Given the description of an element on the screen output the (x, y) to click on. 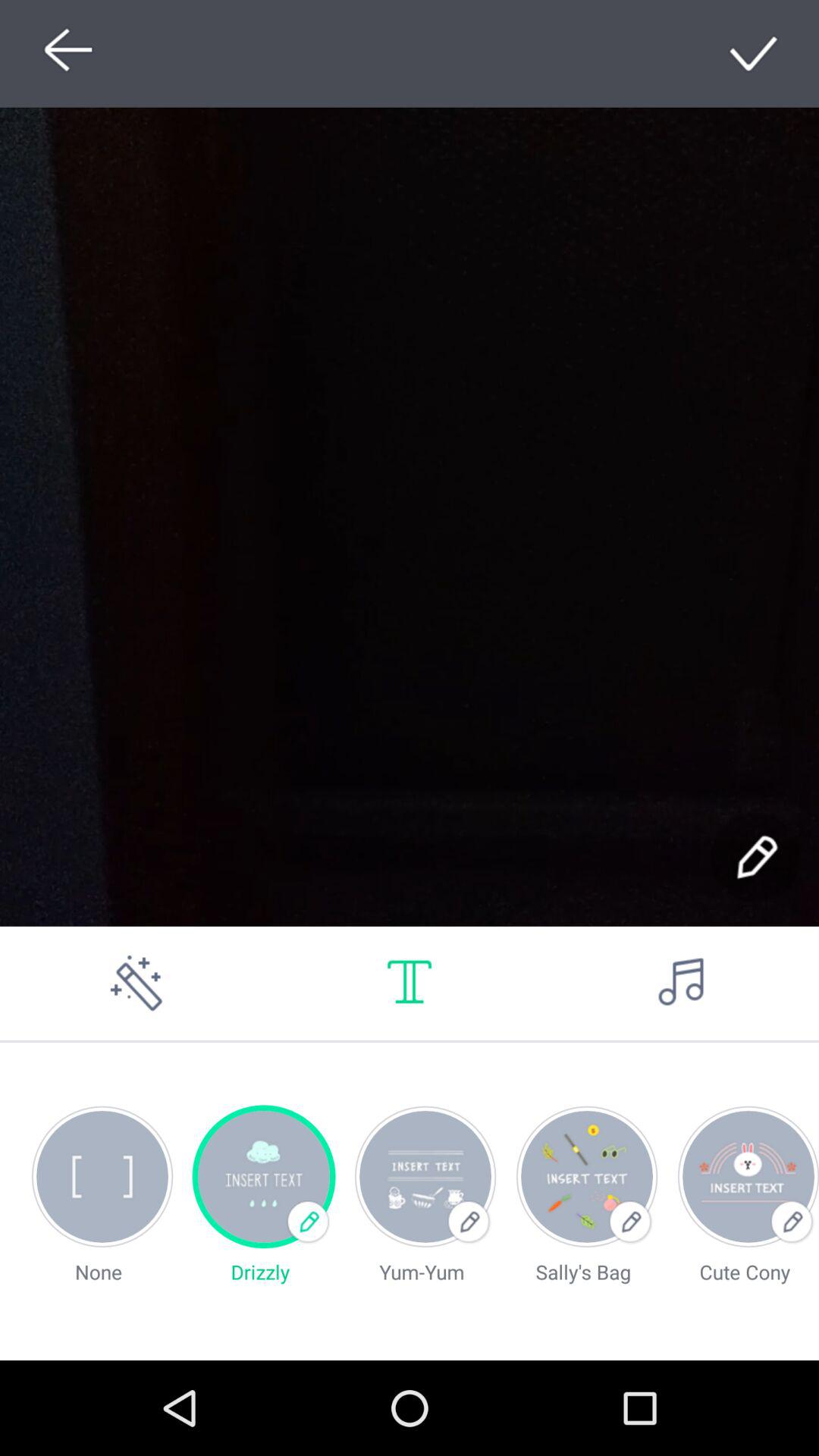
writing option (755, 857)
